Given the description of an element on the screen output the (x, y) to click on. 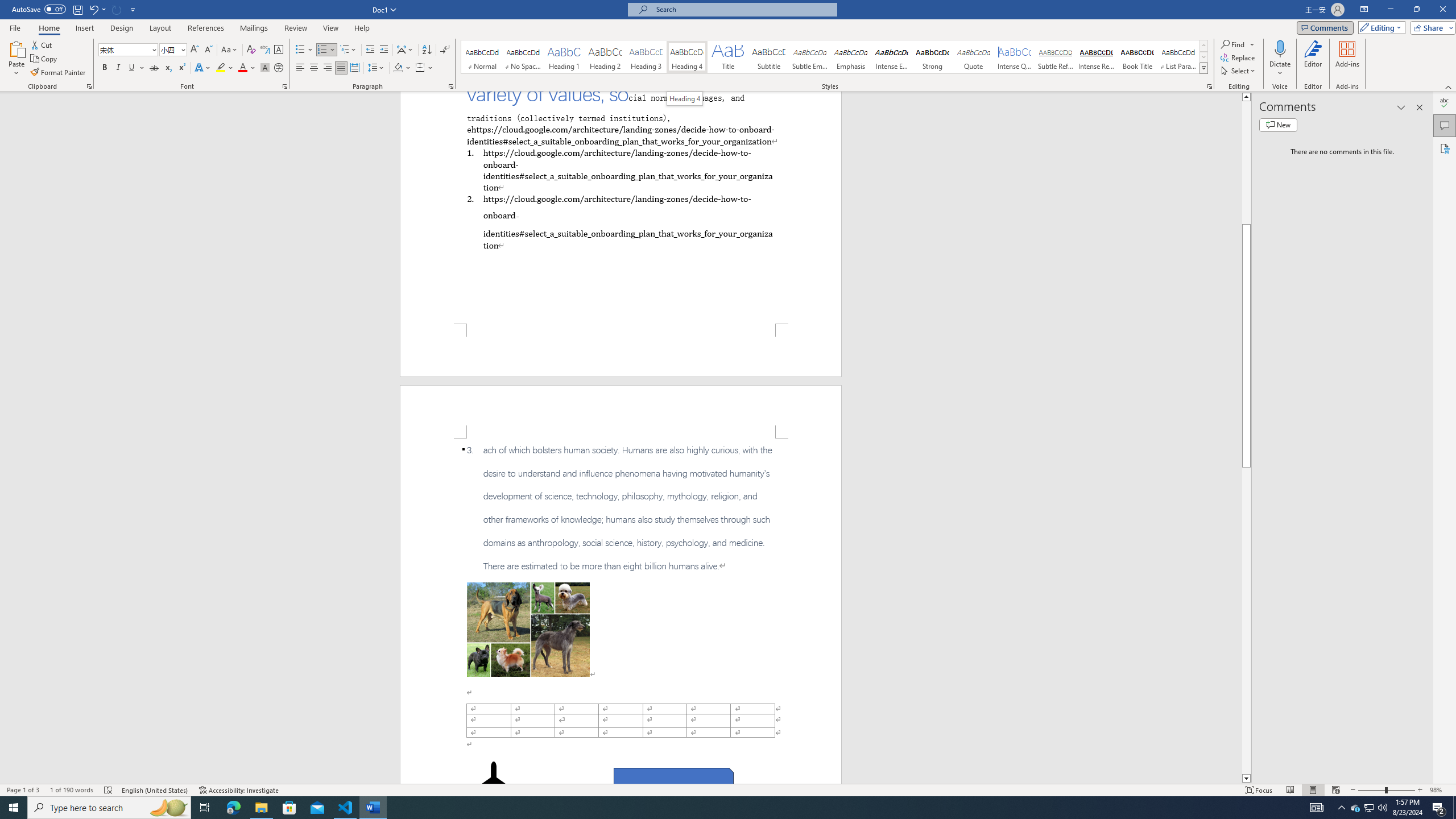
Microsoft search (742, 9)
Rectangle: Diagonal Corners Snipped 2 (672, 781)
Enclose Characters... (278, 67)
Header -Section 1- (620, 411)
Title (727, 56)
Spelling and Grammar Check Errors (108, 790)
Quick Access Toolbar (74, 9)
Close pane (1419, 107)
Subtle Emphasis (809, 56)
References (205, 28)
Editor (1312, 58)
Paragraph... (450, 85)
File Tab (15, 27)
